Given the description of an element on the screen output the (x, y) to click on. 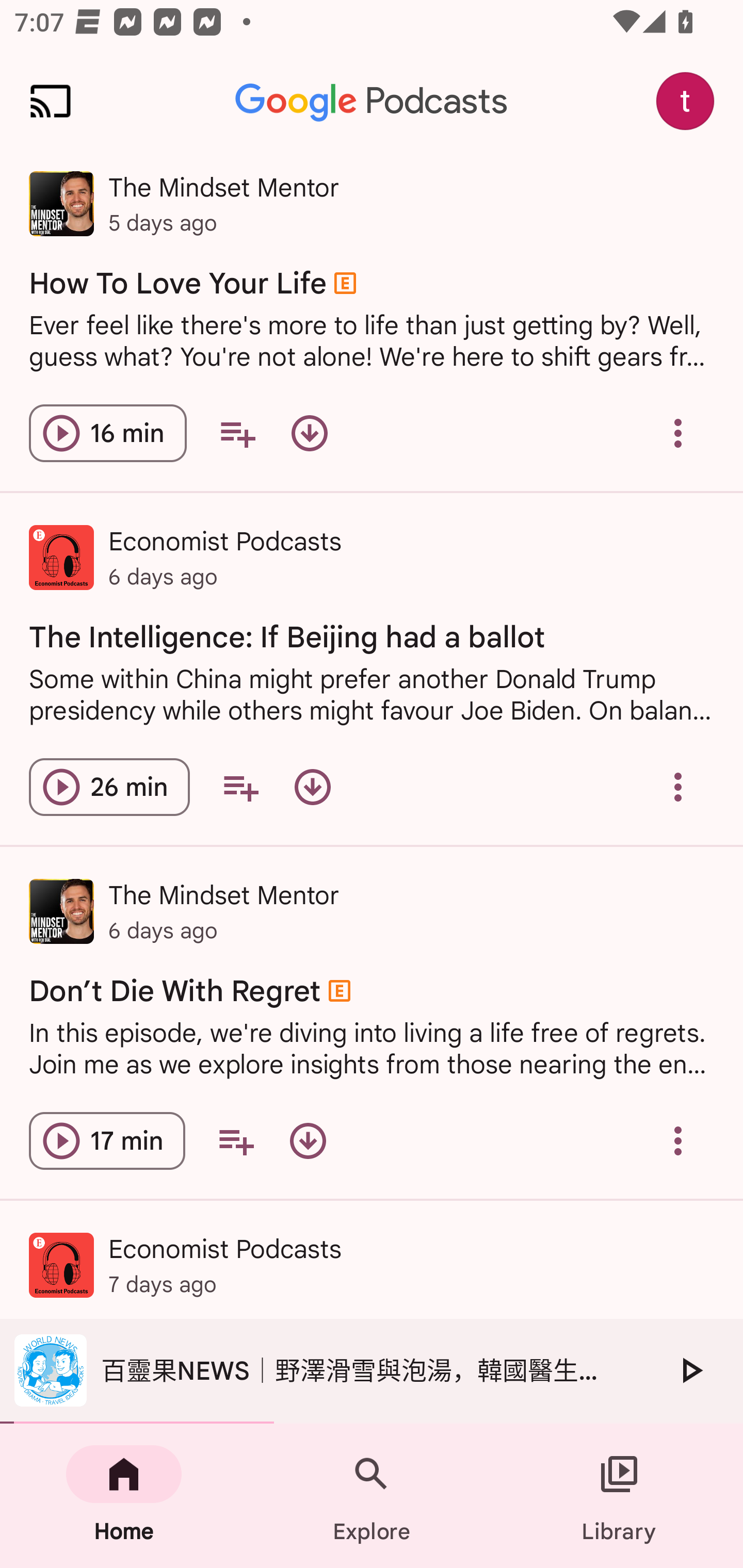
Cast. Disconnected (50, 101)
Play episode How To Love Your Life 16 min (107, 433)
Add to your queue (237, 433)
Download episode (309, 433)
Overflow menu (677, 433)
Add to your queue (240, 787)
Download episode (312, 787)
Overflow menu (677, 787)
Play episode Don’t Die With Regret 17 min (106, 1140)
Add to your queue (235, 1140)
Download episode (307, 1140)
Overflow menu (677, 1140)
Play (690, 1370)
Explore (371, 1495)
Library (619, 1495)
